Given the description of an element on the screen output the (x, y) to click on. 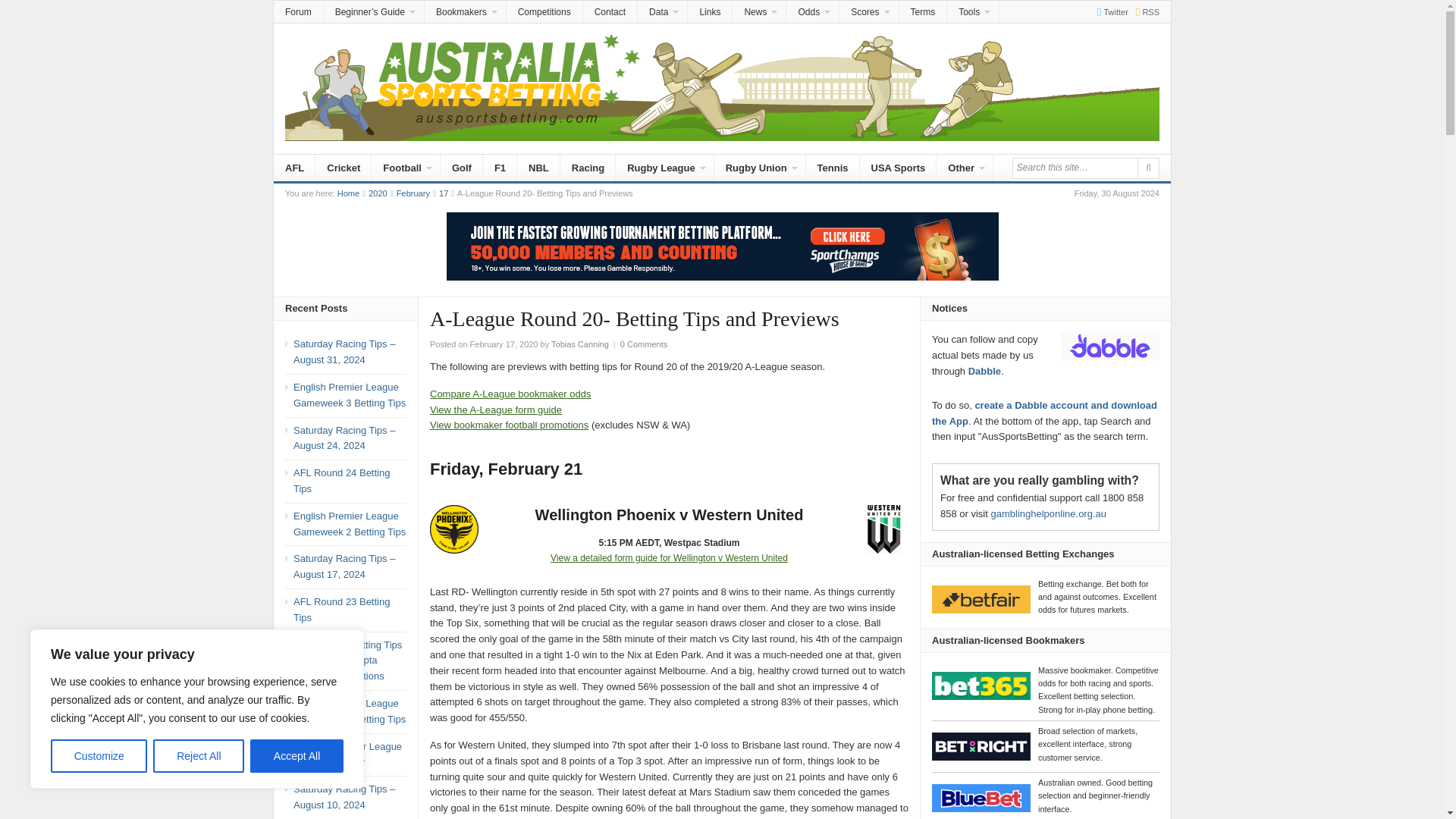
Reject All (198, 756)
Twitter (1108, 11)
RSS (1143, 11)
Accept All (296, 756)
Customize (98, 756)
SportChamps (721, 246)
Australia Sports Betting (348, 193)
